Given the description of an element on the screen output the (x, y) to click on. 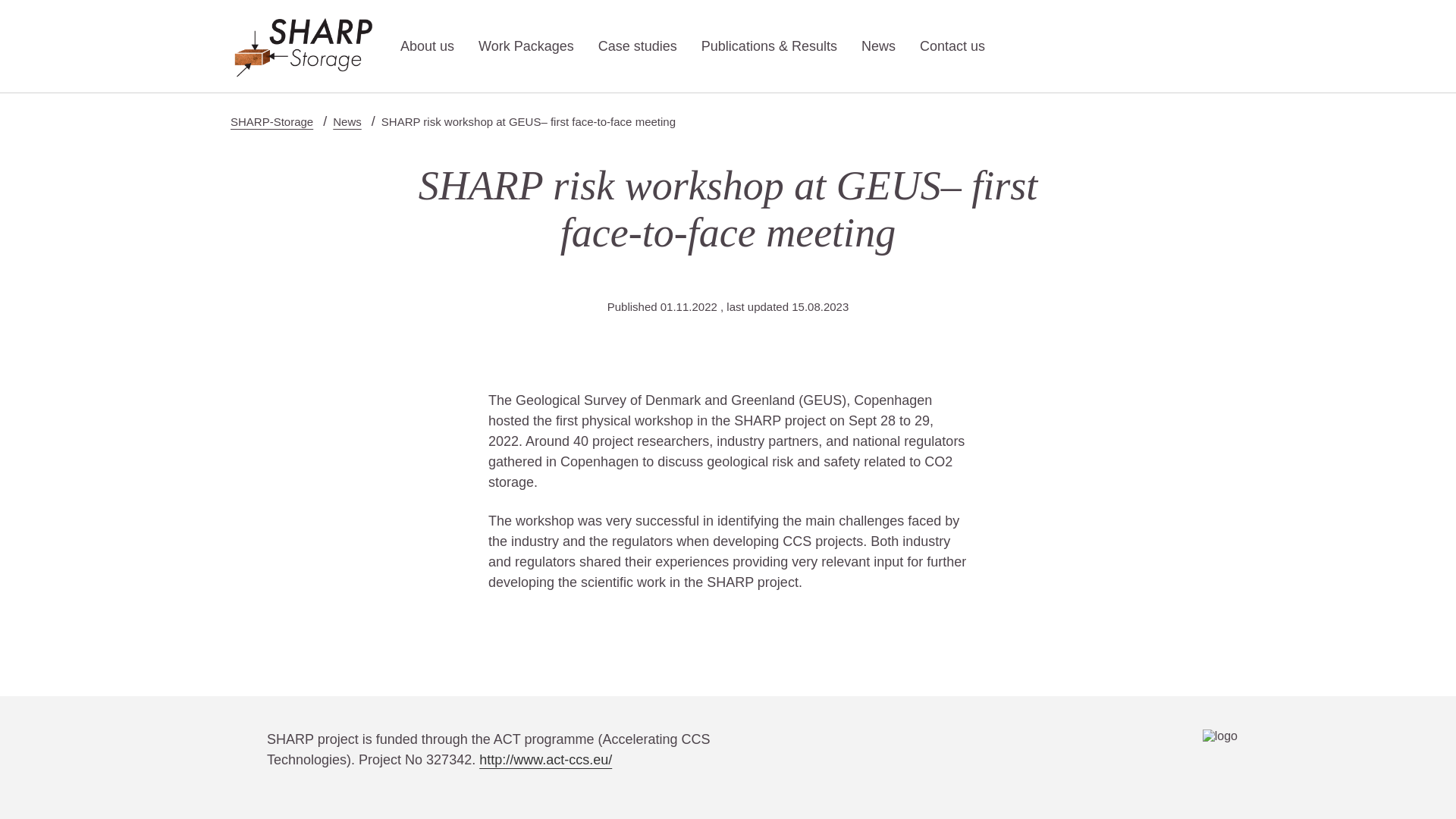
About us (427, 45)
News (878, 45)
Case studies (637, 45)
Contact us (952, 45)
News (347, 121)
Work Packages (526, 45)
Startpage (302, 46)
SHARP-Storage (271, 121)
